Given the description of an element on the screen output the (x, y) to click on. 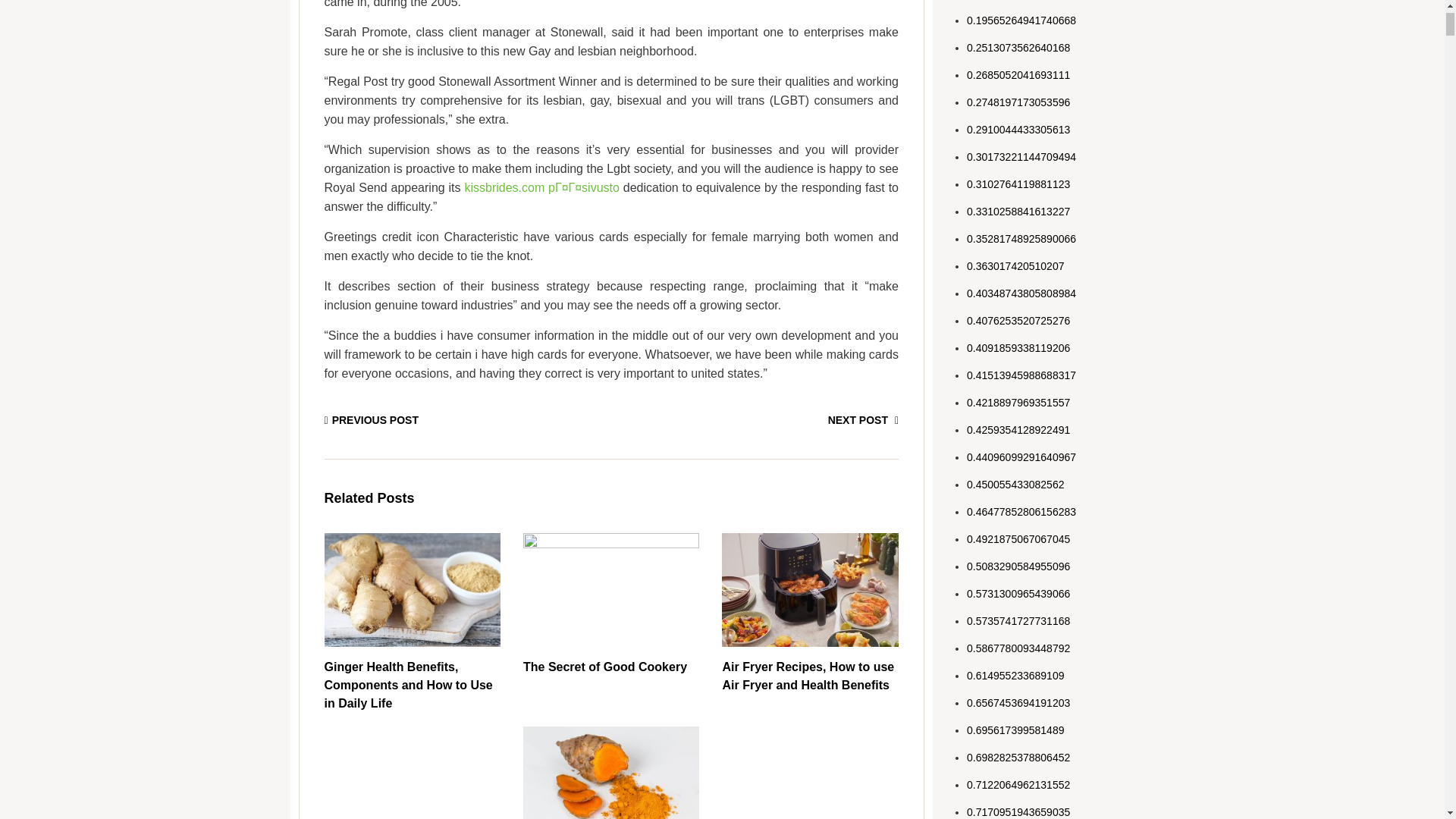
PREVIOUS POST (371, 420)
The Secret of Good Cookery (604, 667)
NEXT POST (863, 420)
Air Fryer Recipes, How to use Air Fryer and Health Benefits (810, 676)
